Given the description of an element on the screen output the (x, y) to click on. 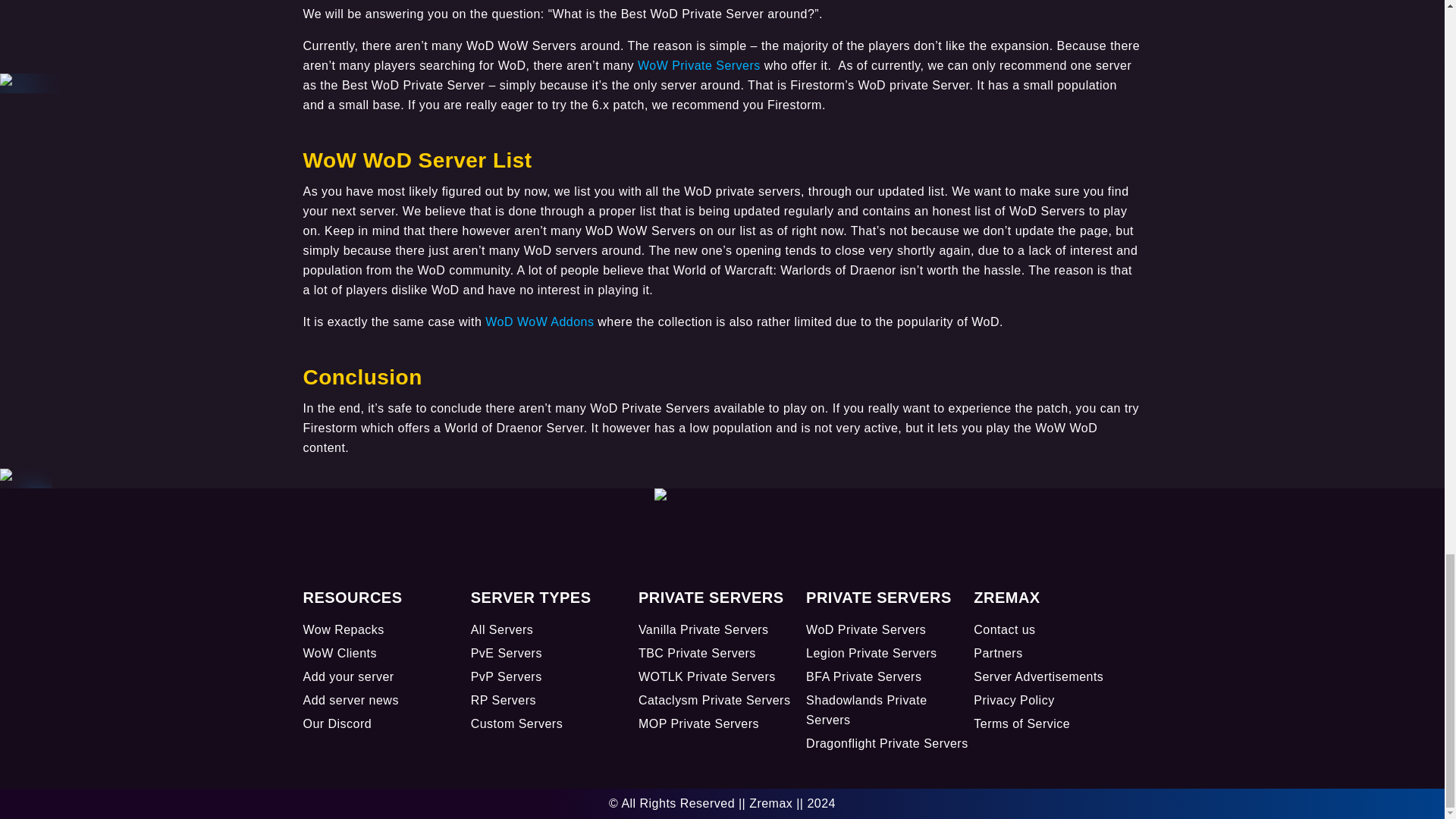
All Servers (502, 628)
Add your server (348, 675)
WoW Private Servers (698, 64)
MOP Private Servers (698, 722)
WoW Clients (339, 653)
Custom Servers (516, 722)
Add server news (350, 699)
Wow Repacks (343, 628)
WoD WoW Addons (539, 320)
RP Servers (502, 699)
Vanilla Private Servers (703, 628)
WoD Private Servers (866, 628)
PvE Servers (505, 653)
Cataclysm Private Servers (714, 699)
TBC Private Servers (697, 653)
